Given the description of an element on the screen output the (x, y) to click on. 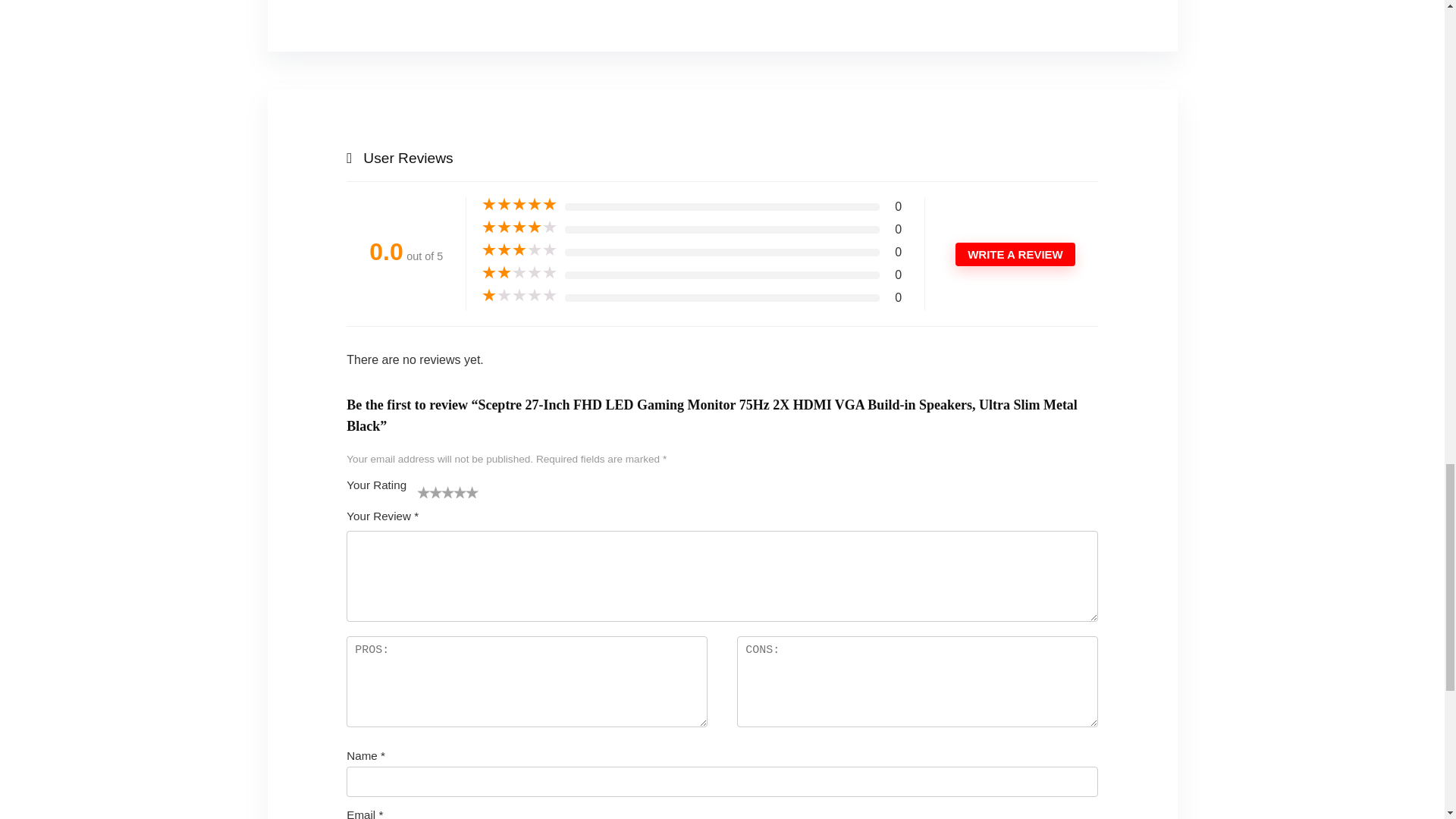
Rated 3 out of 5 (519, 249)
Rated 5 out of 5 (519, 204)
Rated 4 out of 5 (519, 227)
Rated 1 out of 5 (519, 295)
WRITE A REVIEW (1015, 254)
Rated 2 out of 5 (519, 272)
